Given the description of an element on the screen output the (x, y) to click on. 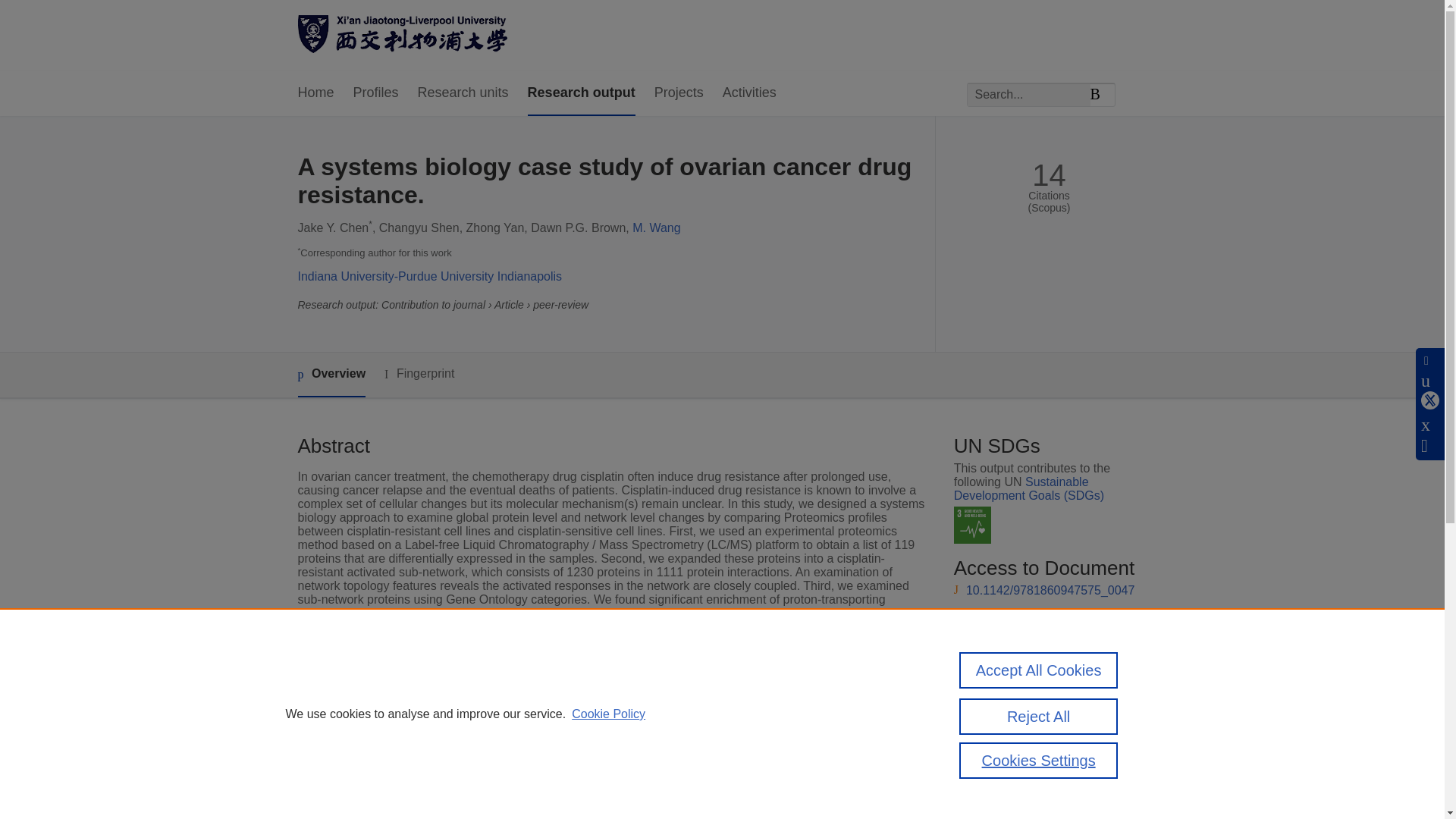
Profiles (375, 93)
Research output (580, 93)
Xi'an Jiaotong-Liverpool University Home (401, 35)
Cookie Policy (608, 713)
Overview (331, 374)
Accept All Cookies (1038, 669)
Research units (462, 93)
SDG 3 - Good Health and Well-being (972, 524)
M. Wang (655, 227)
